Given the description of an element on the screen output the (x, y) to click on. 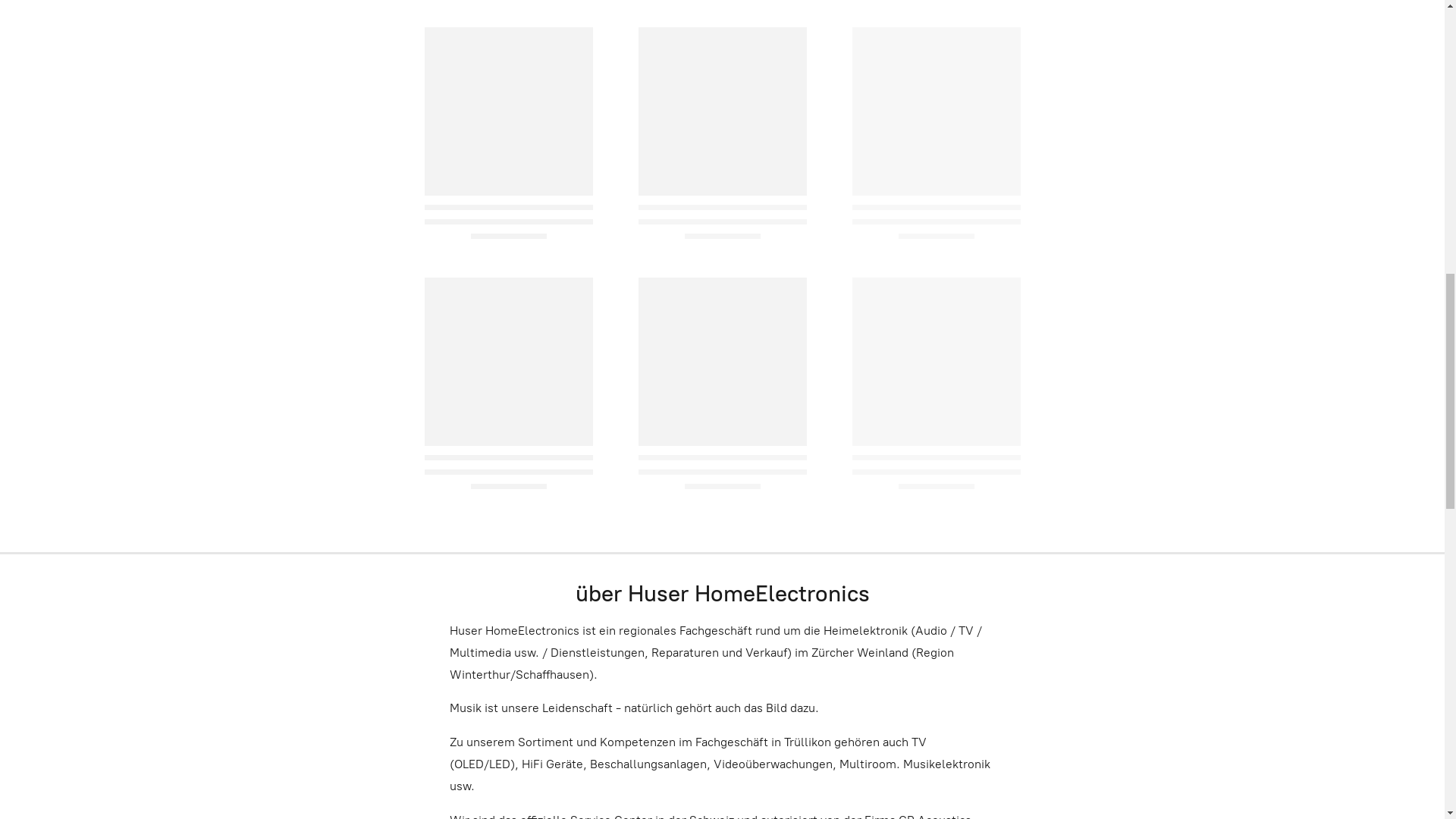
zum Shop Element type: text (644, 726)
Wegbeschreibung erhalten Element type: text (1282, 28)
